Given the description of an element on the screen output the (x, y) to click on. 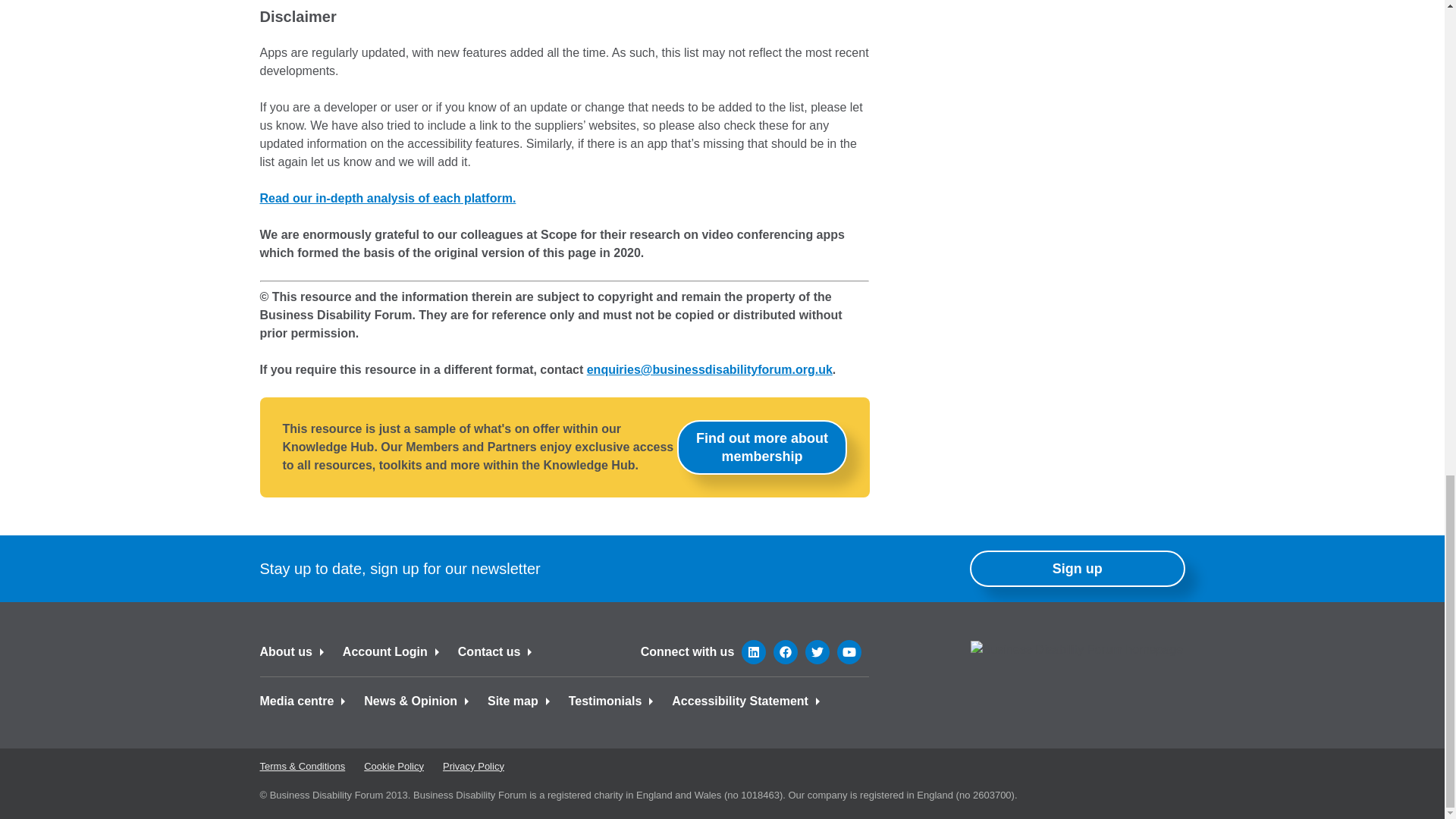
Linkedin (753, 651)
Twitter (817, 651)
Facebook (785, 651)
Youtube (849, 651)
